Given the description of an element on the screen output the (x, y) to click on. 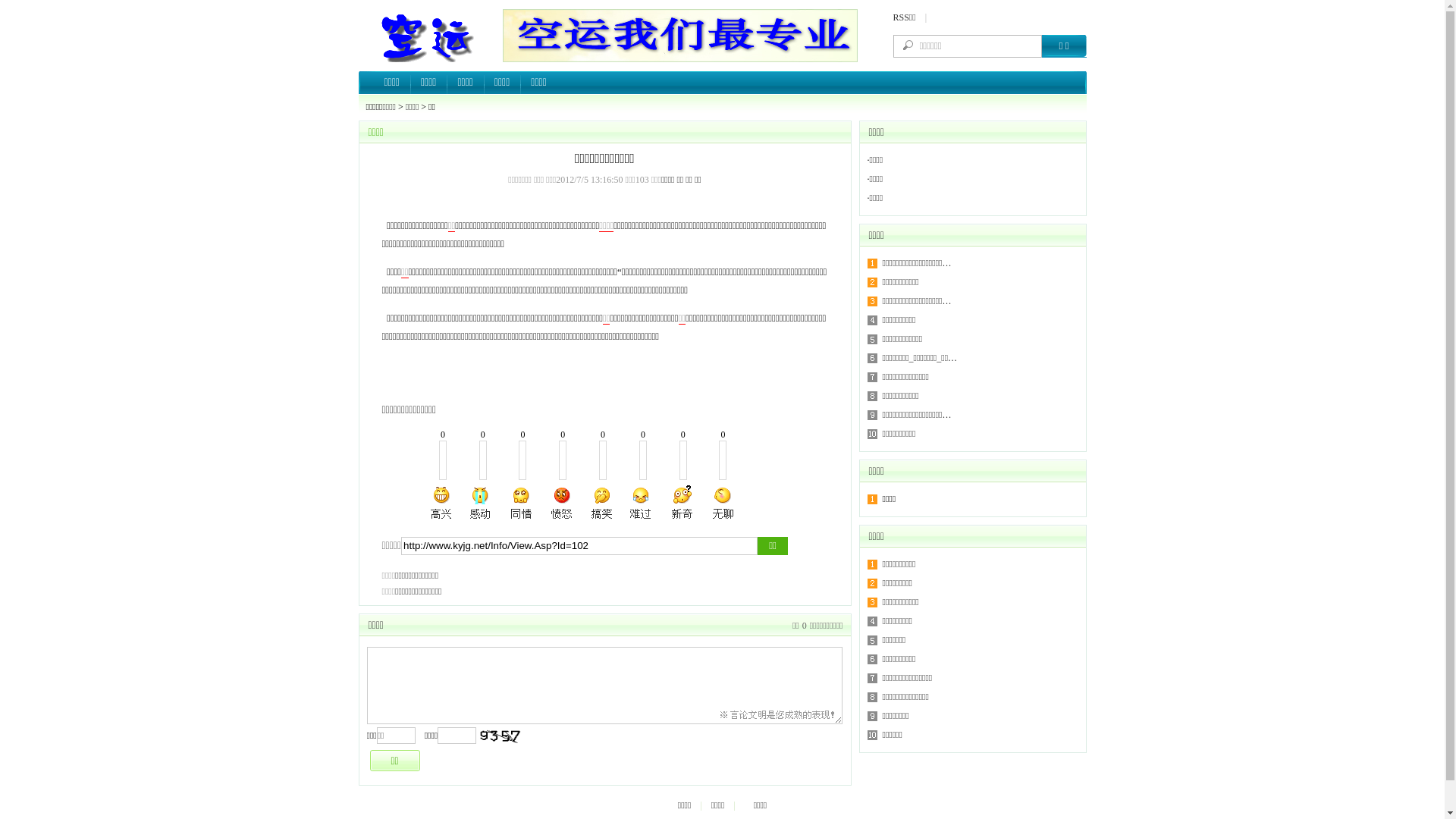
0 Element type: text (804, 625)
